Given the description of an element on the screen output the (x, y) to click on. 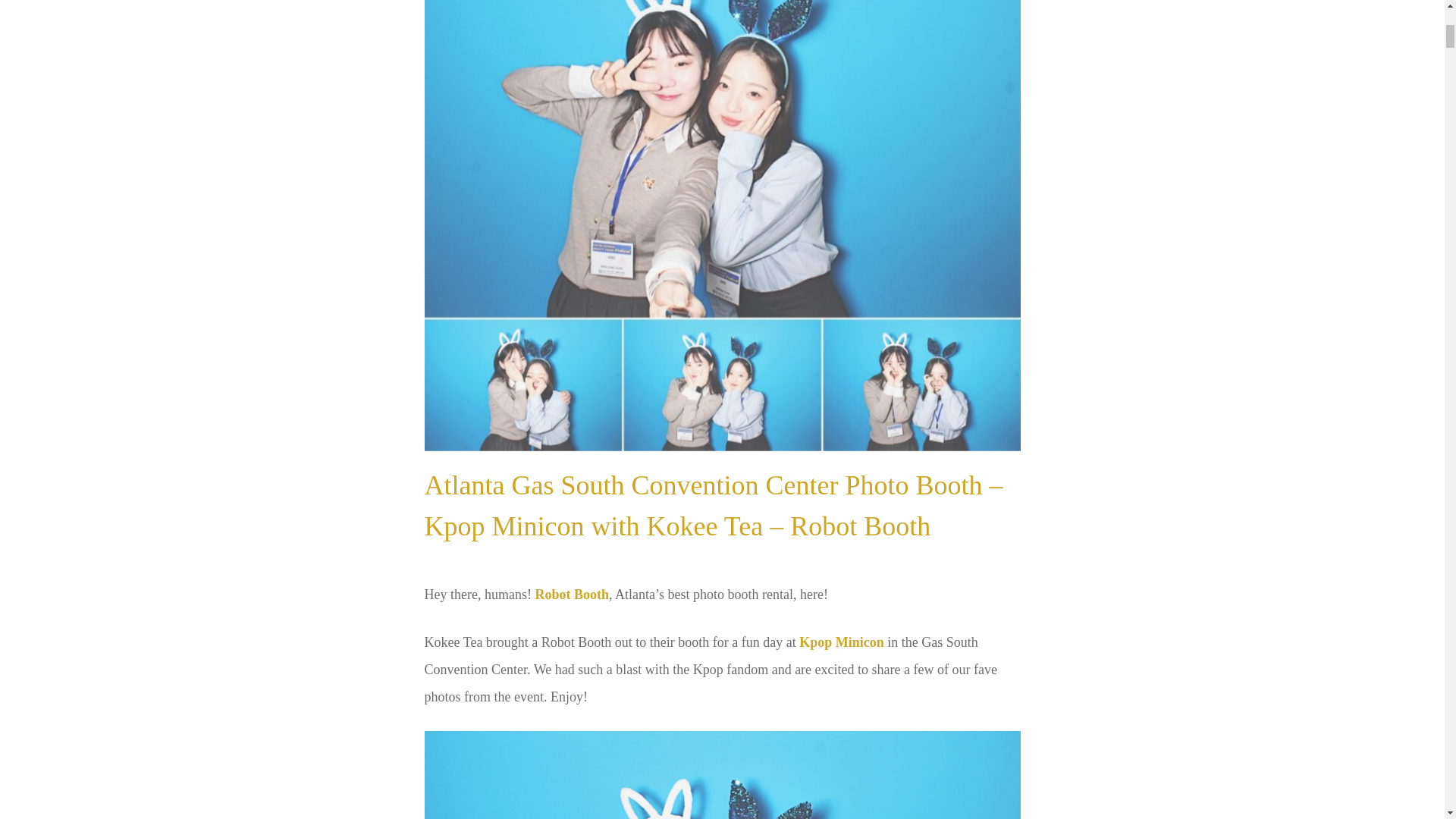
Robot Booth (571, 594)
Kpop Minicon (841, 642)
